Given the description of an element on the screen output the (x, y) to click on. 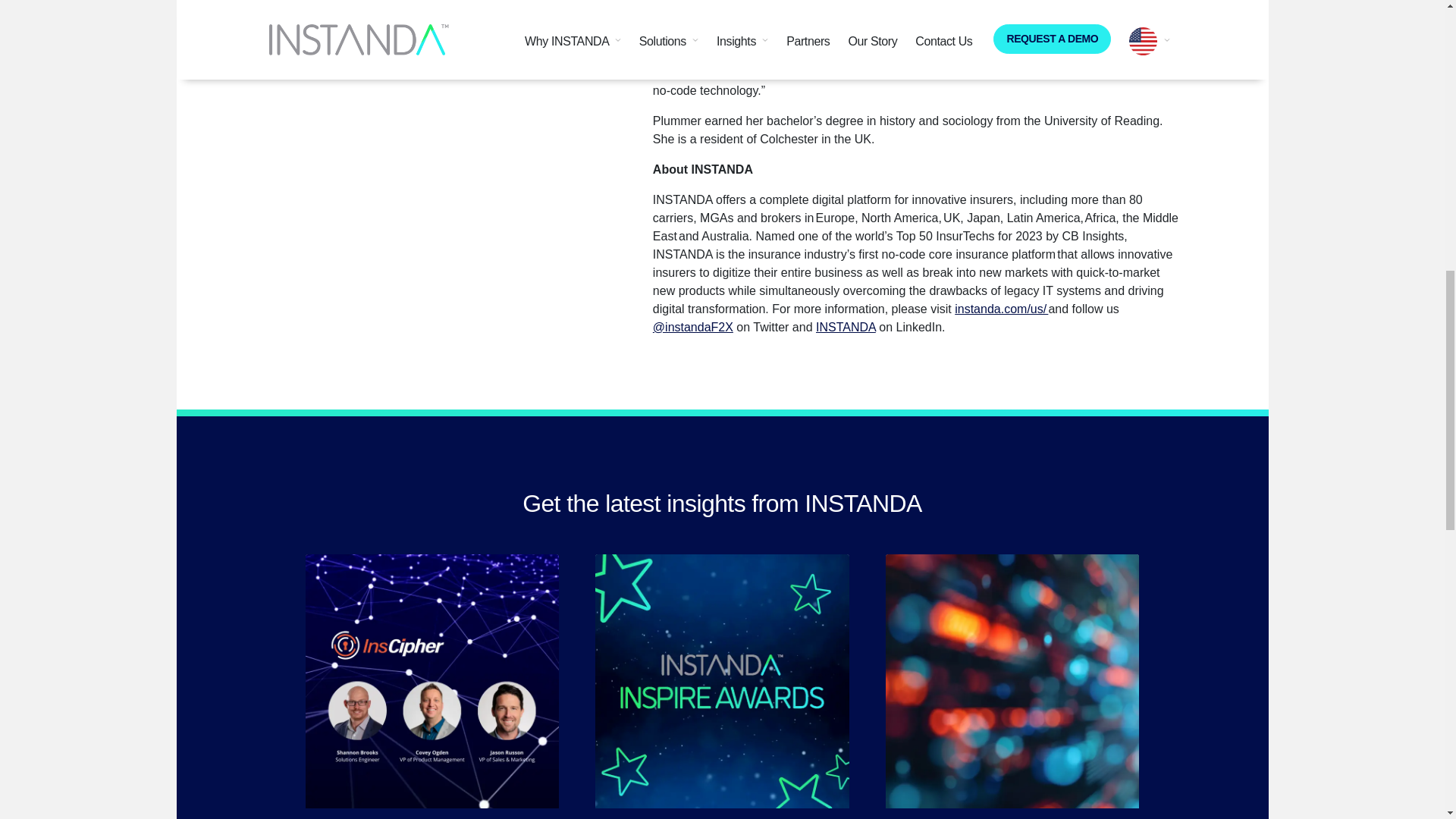
INSTANDA (845, 327)
